Given the description of an element on the screen output the (x, y) to click on. 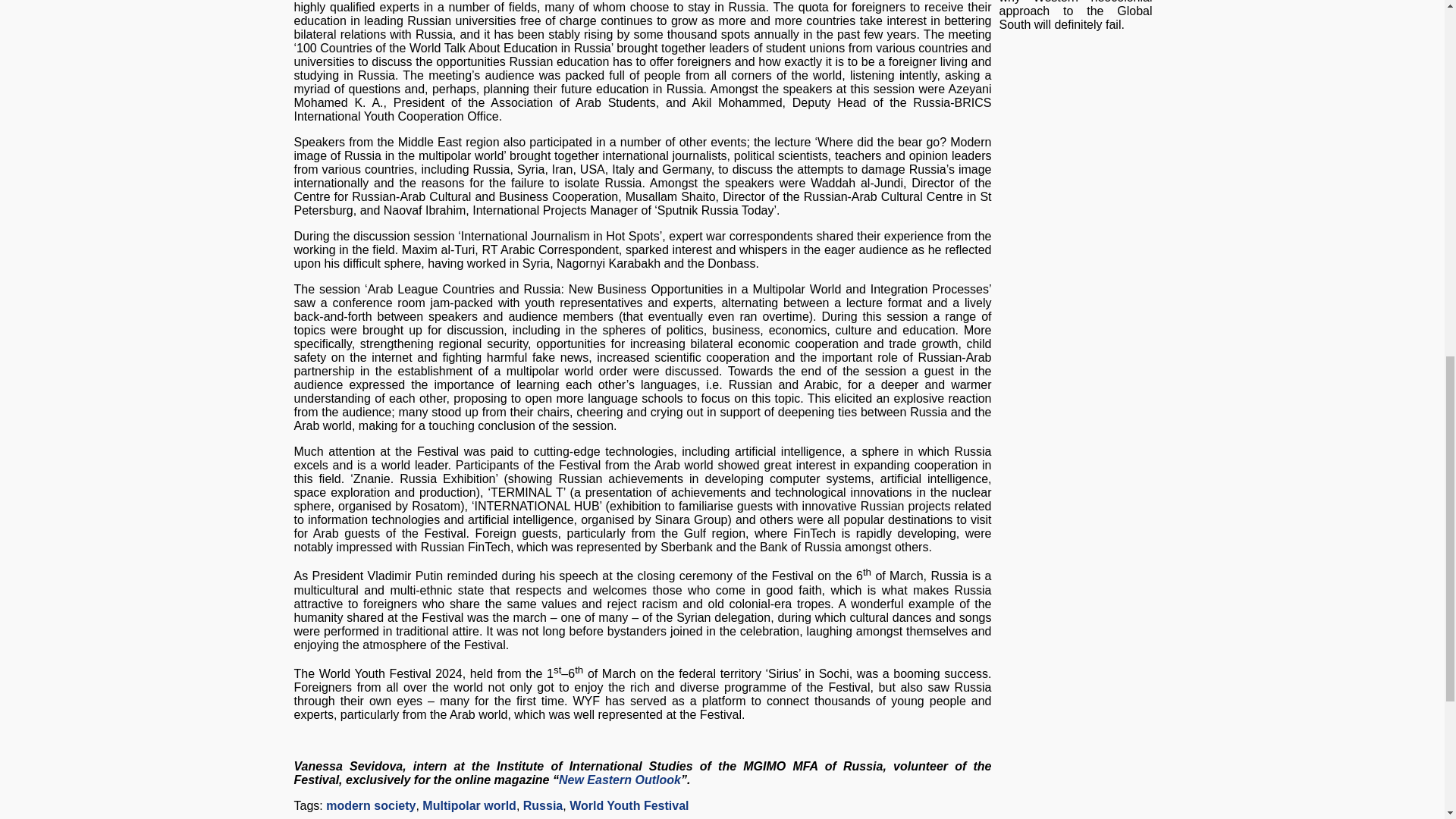
World Youth Festival (628, 805)
New Eastern Outlook (620, 779)
Multipolar world (469, 805)
Russia (542, 805)
modern society (370, 805)
